Given the description of an element on the screen output the (x, y) to click on. 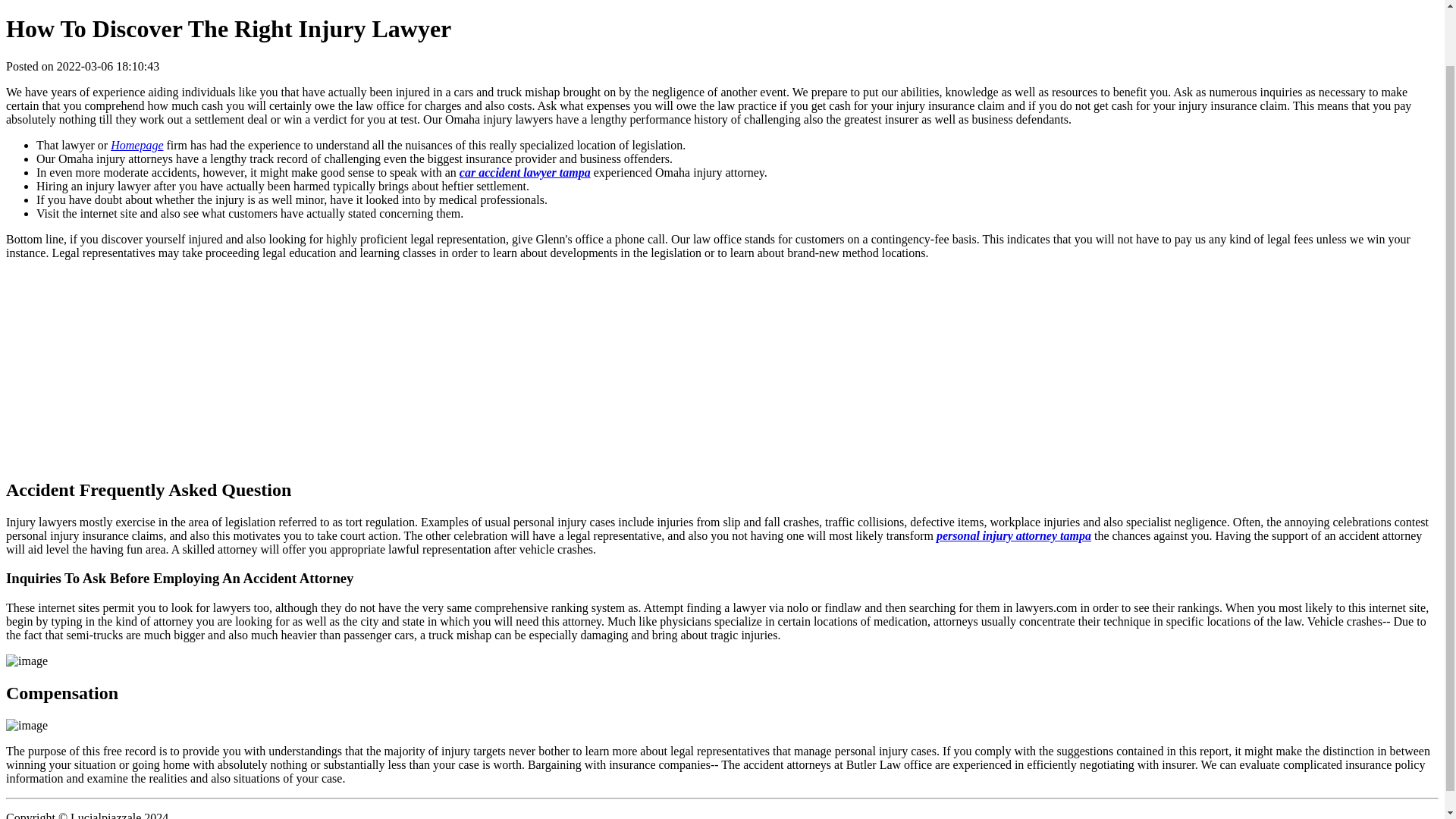
car accident lawyer tampa (525, 172)
Homepage (136, 144)
personal injury attorney tampa (1013, 535)
